Given the description of an element on the screen output the (x, y) to click on. 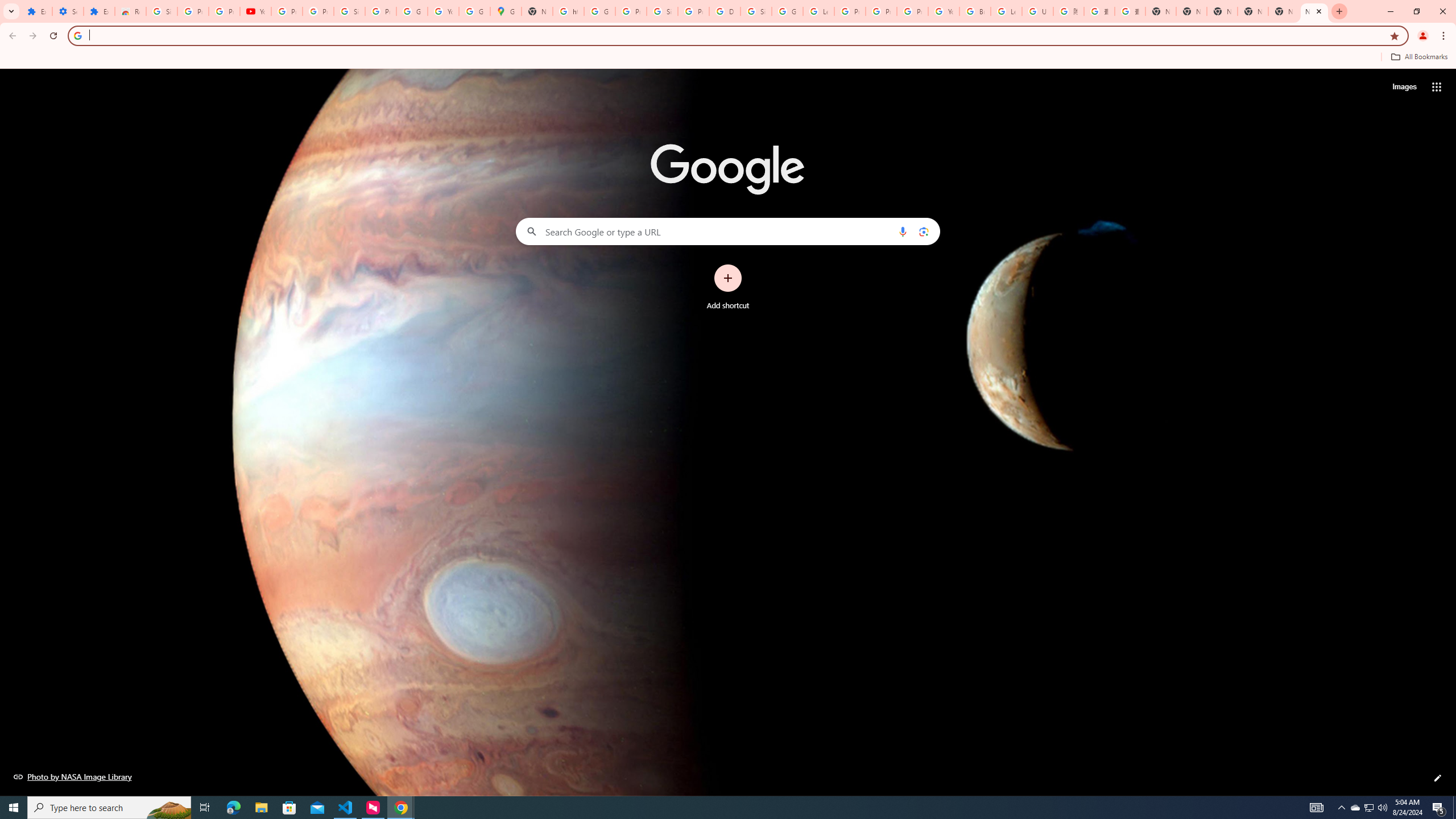
Reviews: Helix Fruit Jump Arcade Game (130, 11)
YouTube (443, 11)
New Tab (1160, 11)
Extensions (98, 11)
